Given the description of an element on the screen output the (x, y) to click on. 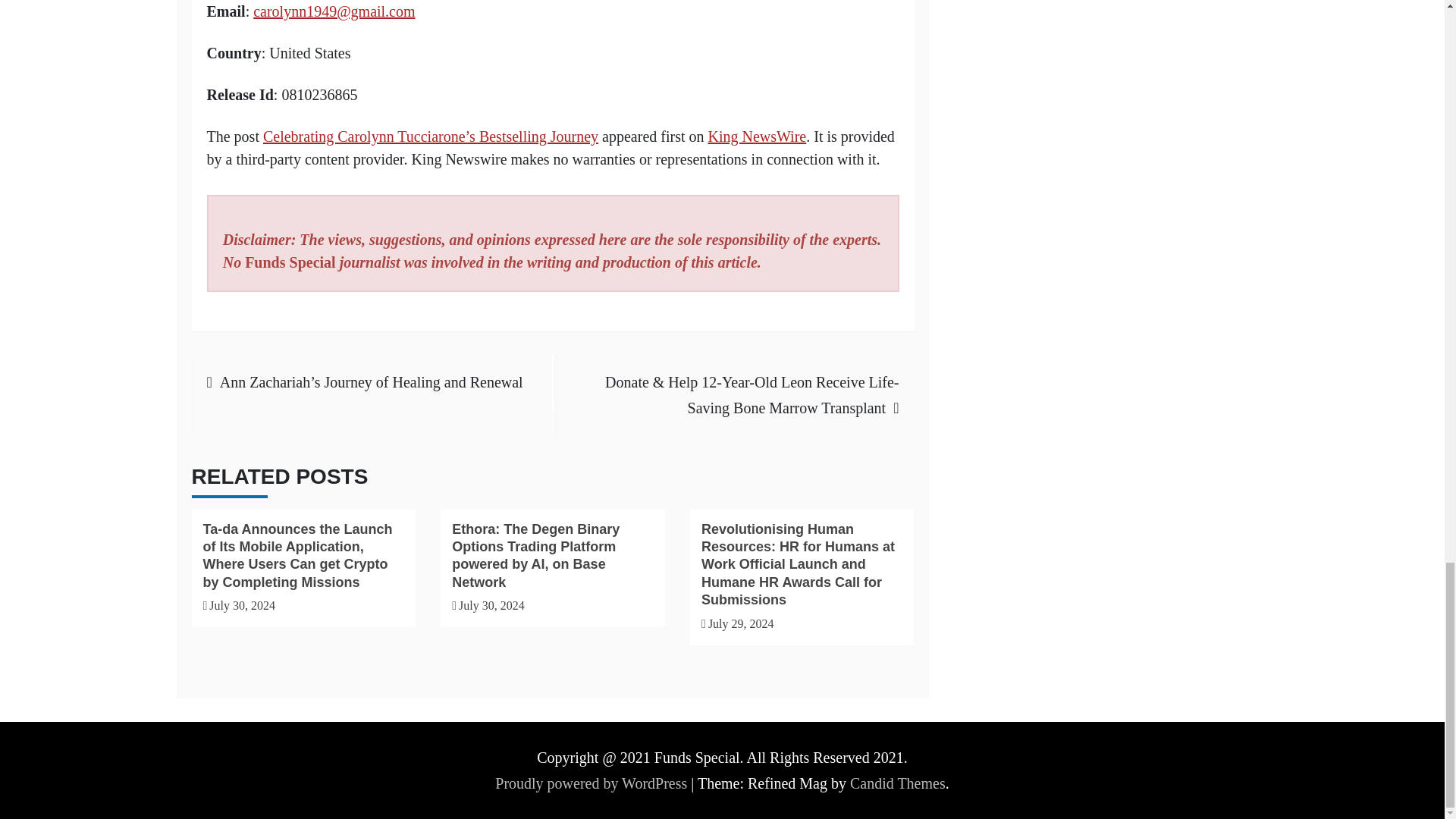
King NewsWire (756, 135)
July 30, 2024 (491, 604)
July 30, 2024 (242, 604)
July 29, 2024 (740, 623)
